Given the description of an element on the screen output the (x, y) to click on. 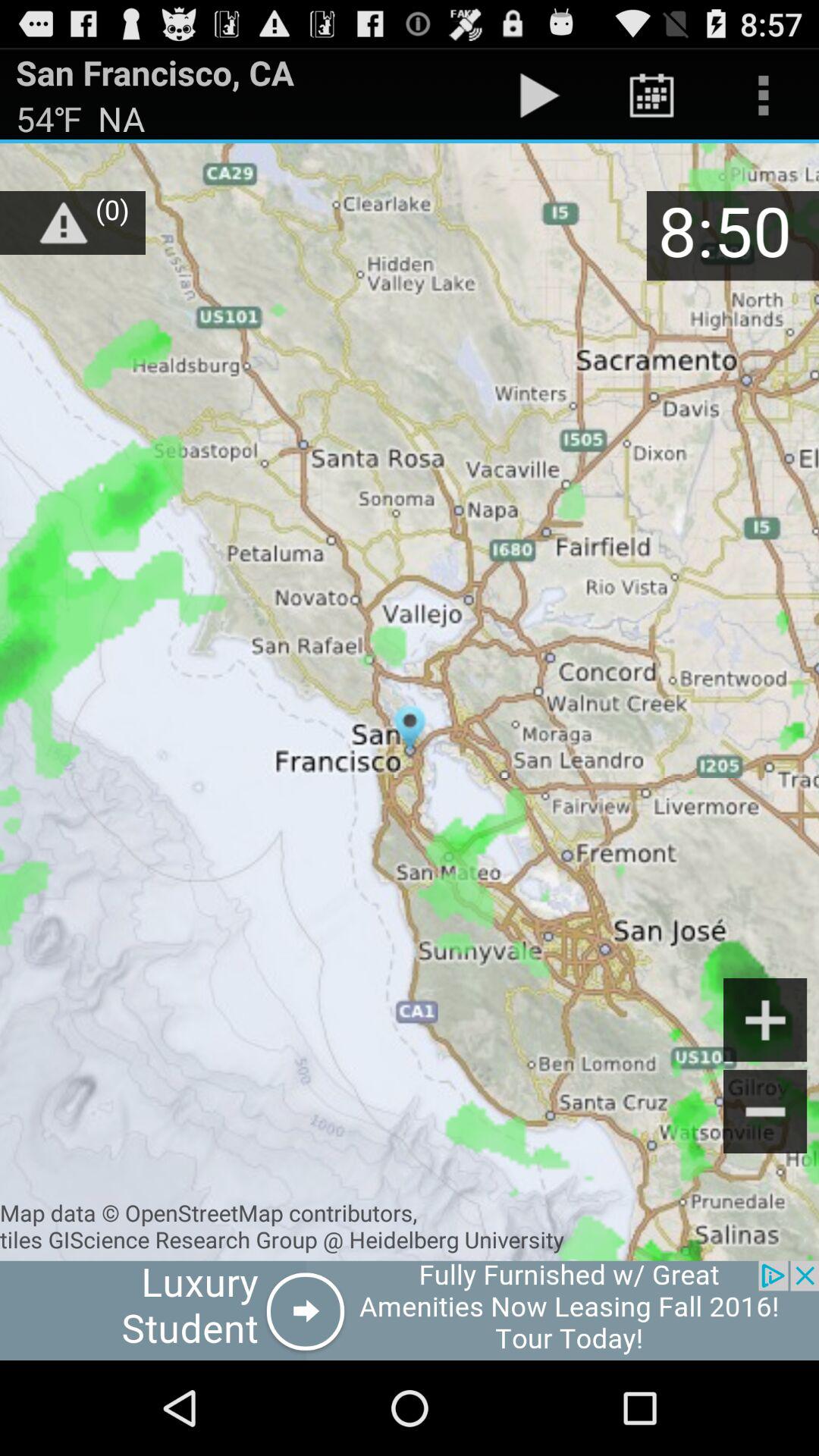
view advertisements (409, 1310)
